Given the description of an element on the screen output the (x, y) to click on. 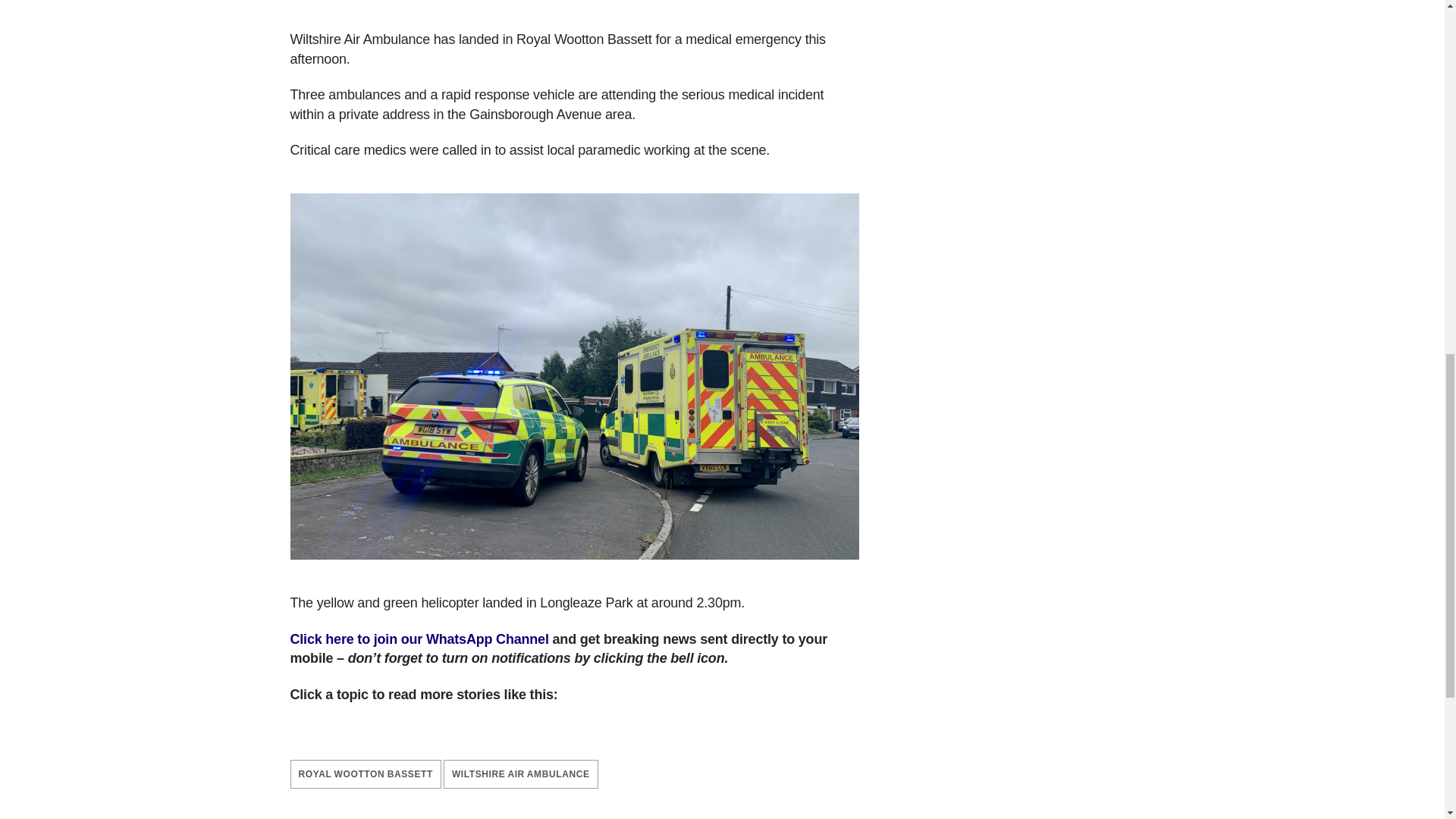
WILTSHIRE AIR AMBULANCE (521, 774)
Click here to join our WhatsApp Channel (418, 639)
ROYAL WOOTTON BASSETT (365, 774)
